Given the description of an element on the screen output the (x, y) to click on. 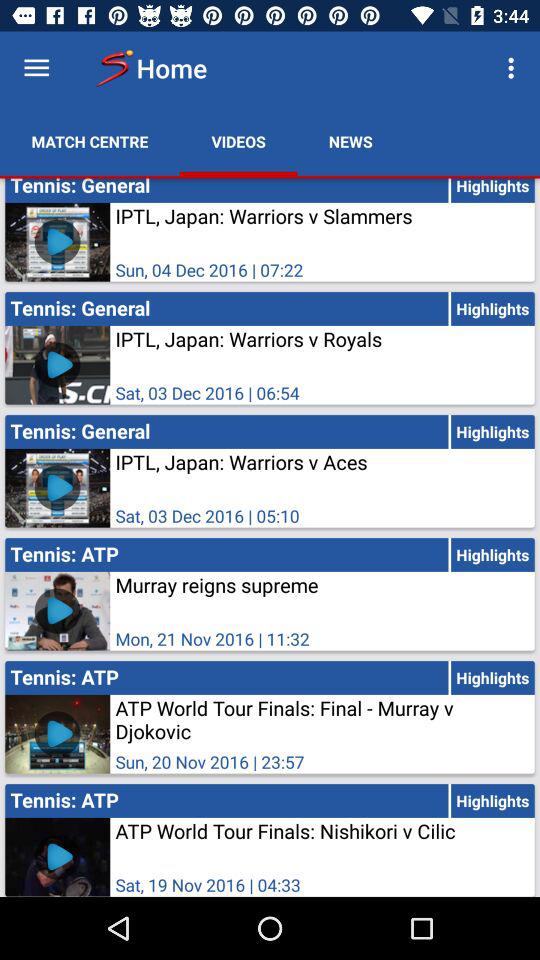
tap match centre (90, 141)
